Given the description of an element on the screen output the (x, y) to click on. 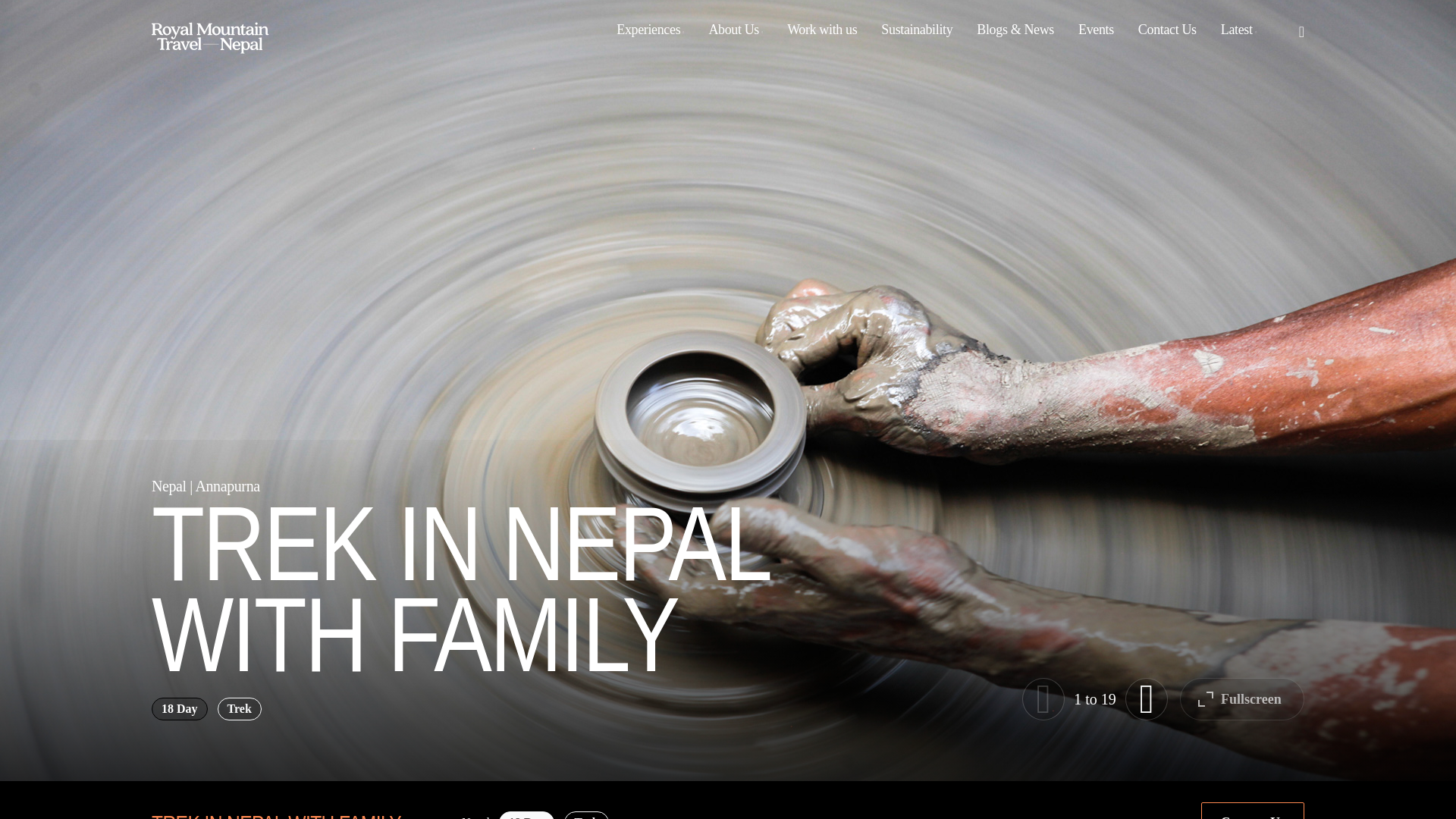
About Us (734, 29)
Contact Us (1166, 29)
Sustainability (916, 29)
Latest (1238, 29)
Events (1095, 29)
Work with us (821, 29)
Experiences (649, 29)
